Given the description of an element on the screen output the (x, y) to click on. 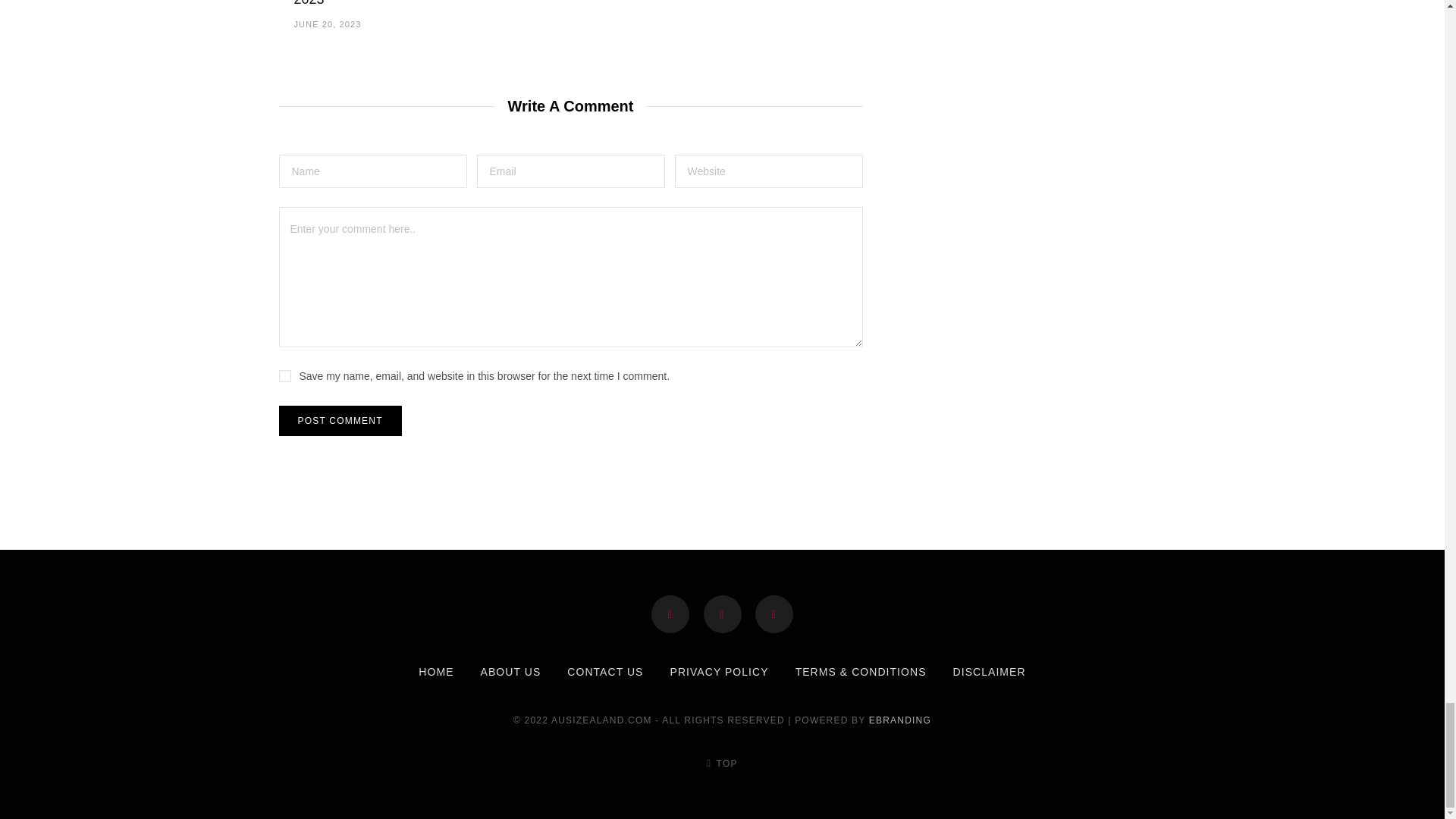
Post Comment (340, 420)
yes (285, 376)
